Given the description of an element on the screen output the (x, y) to click on. 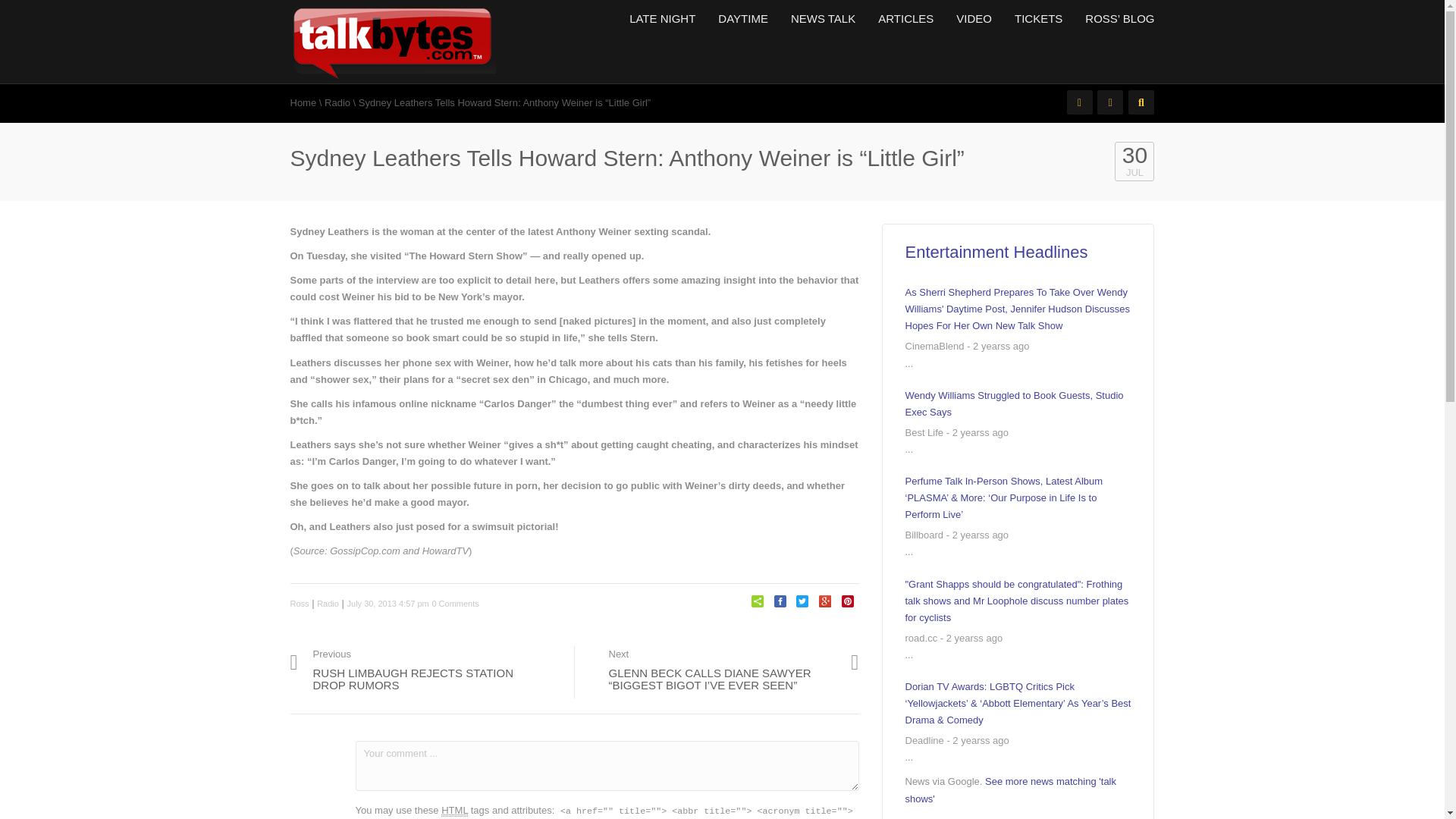
HyperText Markup Language (454, 810)
TICKETS (1038, 18)
See more news matching 'talk shows' (1010, 789)
Ross (298, 603)
Posts by Ross (298, 603)
Glenn Beck Calls Diane Sawyer  (722, 669)
NEWS TALK (822, 18)
0 Comments (425, 672)
Home (454, 603)
Wendy Williams Struggled to Book Guests, Studio Exec Says (302, 102)
Rush Limbaugh Rejects Station Drop Rumors (1018, 403)
VIDEO (425, 672)
LATE NIGHT (973, 18)
